Given the description of an element on the screen output the (x, y) to click on. 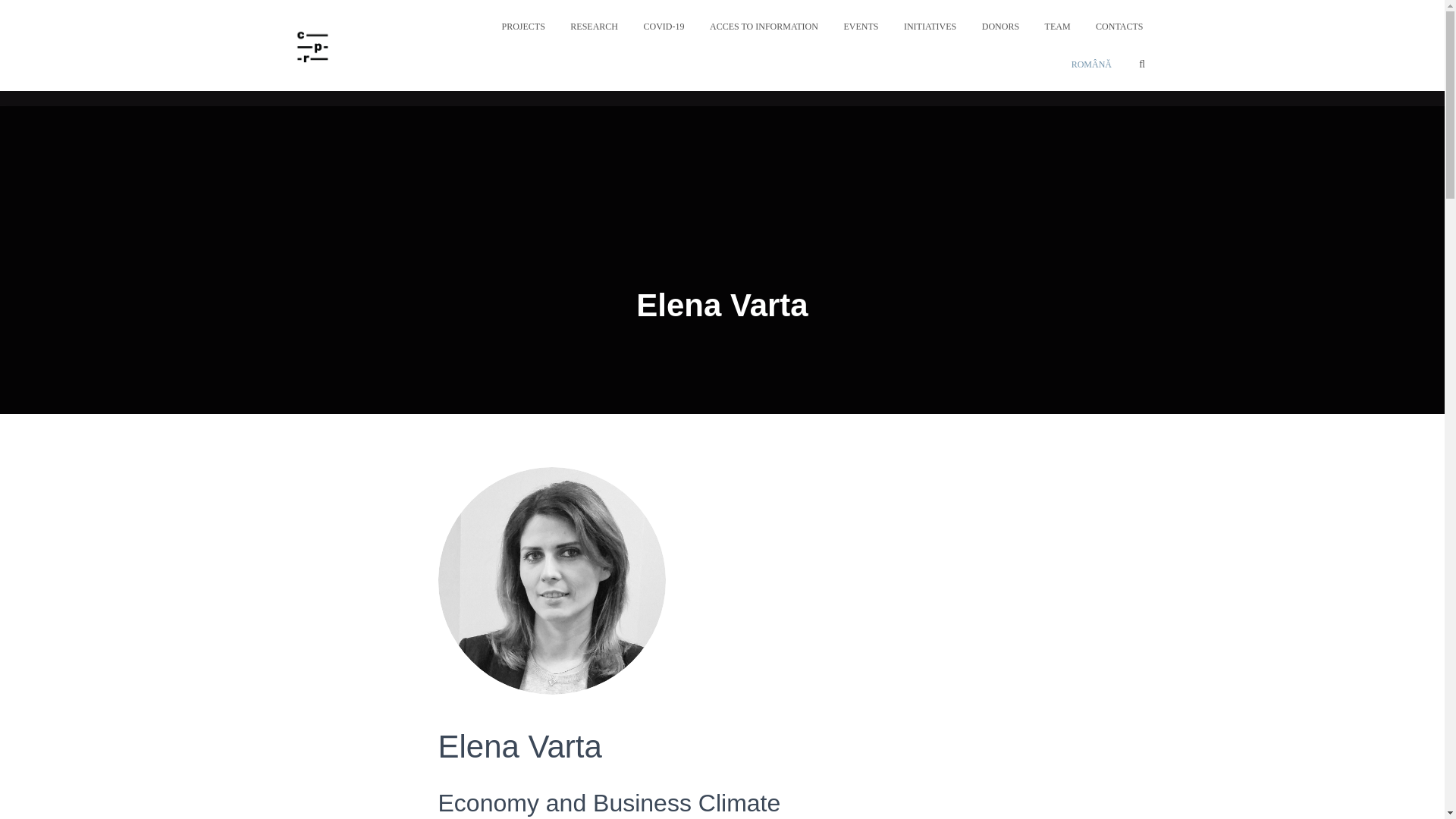
Initiatives (930, 26)
INITIATIVES (930, 26)
Projects (522, 26)
Acces to information (763, 26)
CONTACTS (1119, 26)
Contacts (1119, 26)
DONORS (1000, 26)
ACCES TO INFORMATION (763, 26)
RESEARCH (593, 26)
PROJECTS (522, 26)
